Given the description of an element on the screen output the (x, y) to click on. 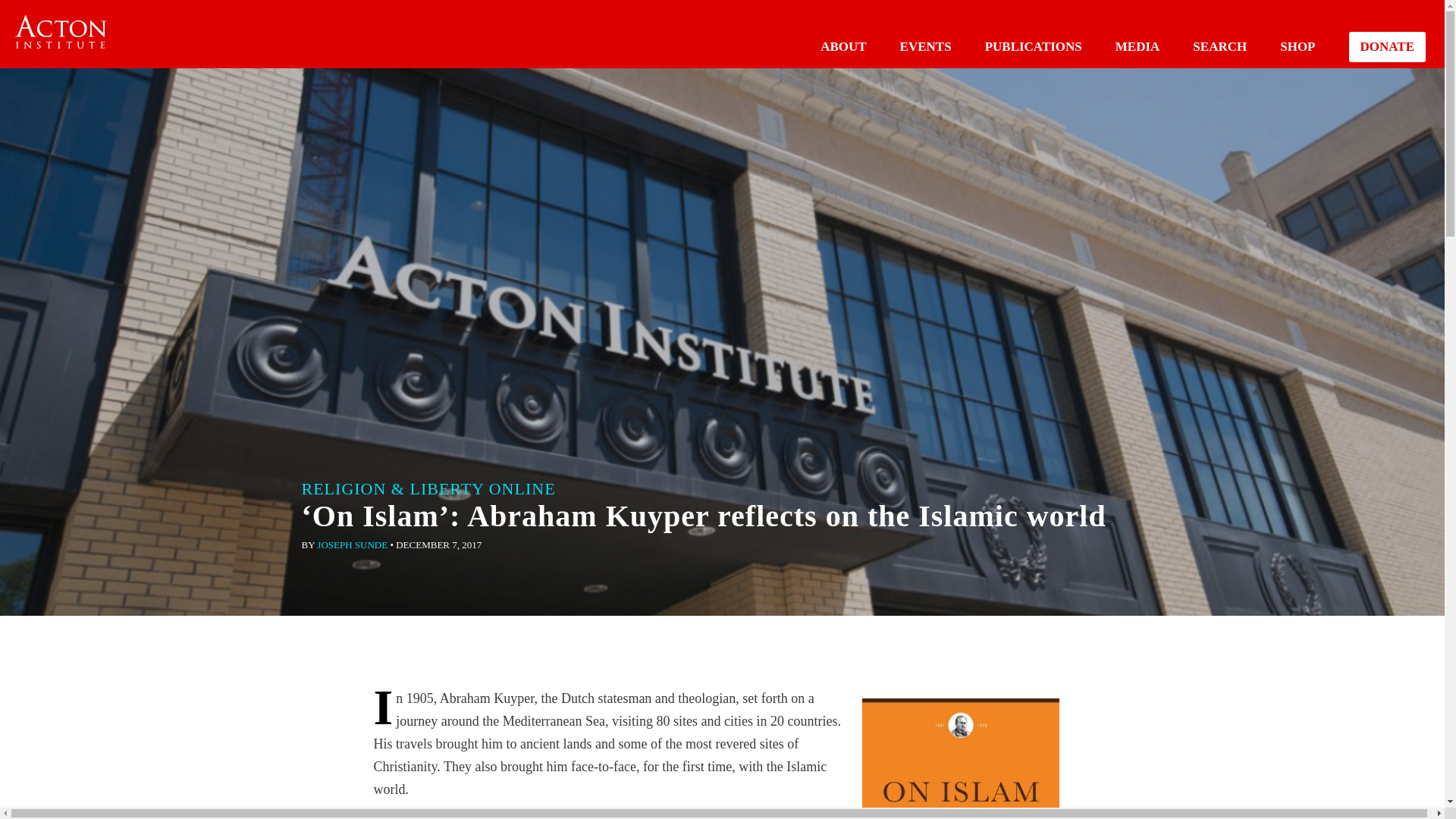
JOSEPH SUNDE (352, 544)
PUBLICATIONS (1033, 46)
Posts by Joseph Sunde (352, 544)
MEDIA (1137, 46)
DONATE (1387, 46)
SHOP (1296, 46)
The Acton Institute (60, 31)
EVENTS (925, 46)
ABOUT (843, 46)
SEARCH (1219, 46)
